Given the description of an element on the screen output the (x, y) to click on. 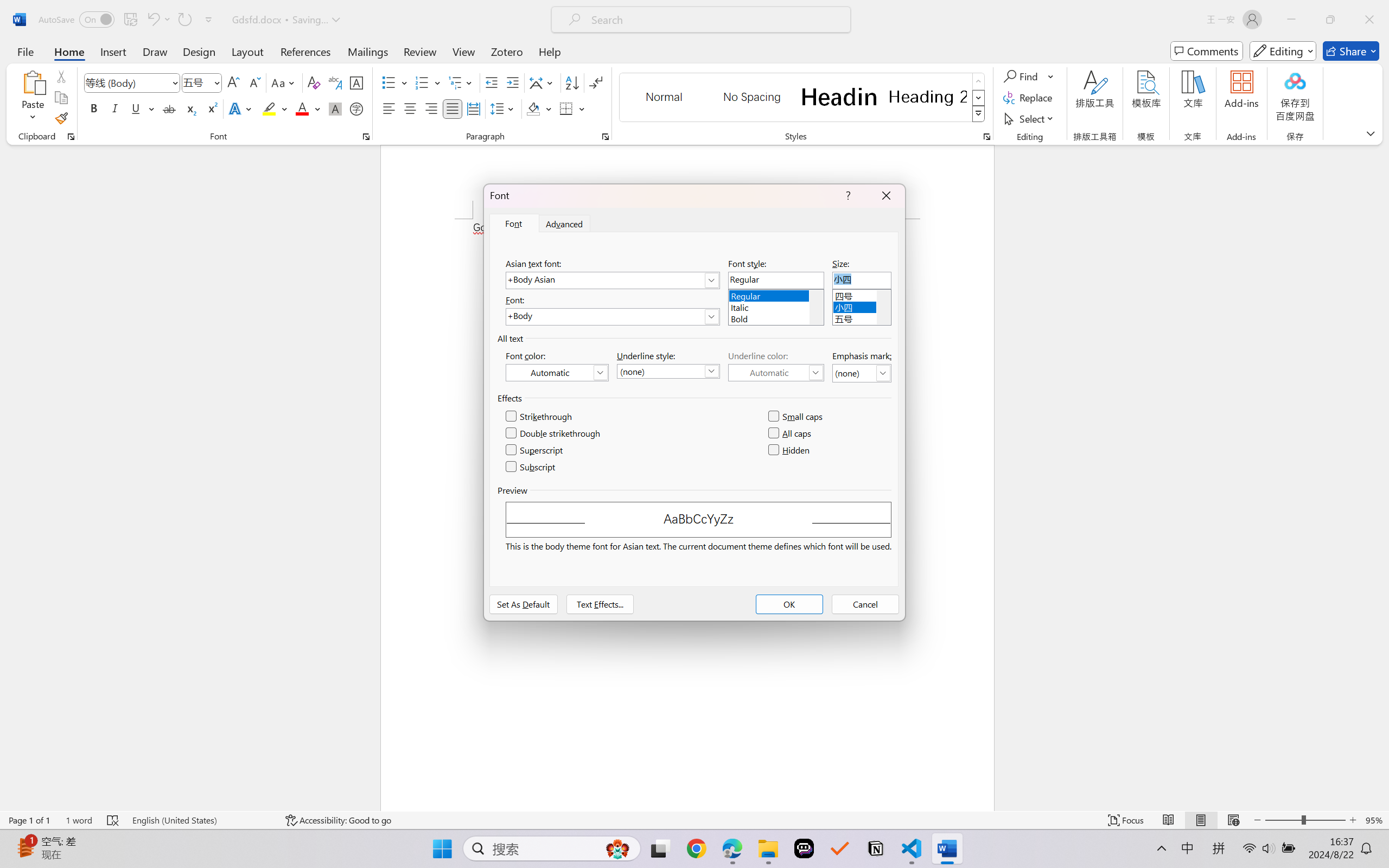
Copy (60, 97)
Font Color (Automatic) (556, 372)
Character Shading (334, 108)
Asian text font: (612, 280)
All caps (790, 433)
Text Effects... (599, 603)
Subscript (190, 108)
Underline style: (667, 370)
